Given the description of an element on the screen output the (x, y) to click on. 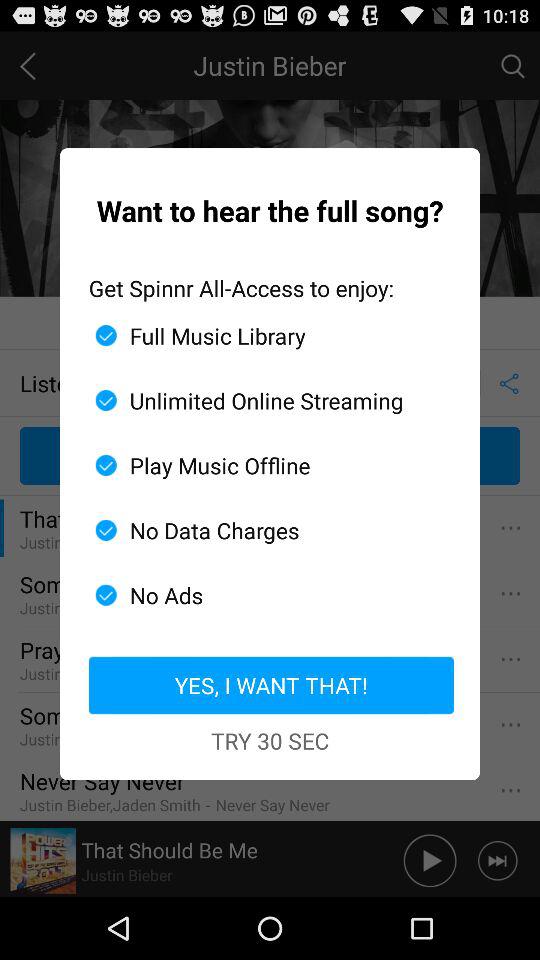
tap the no ads app (261, 595)
